Given the description of an element on the screen output the (x, y) to click on. 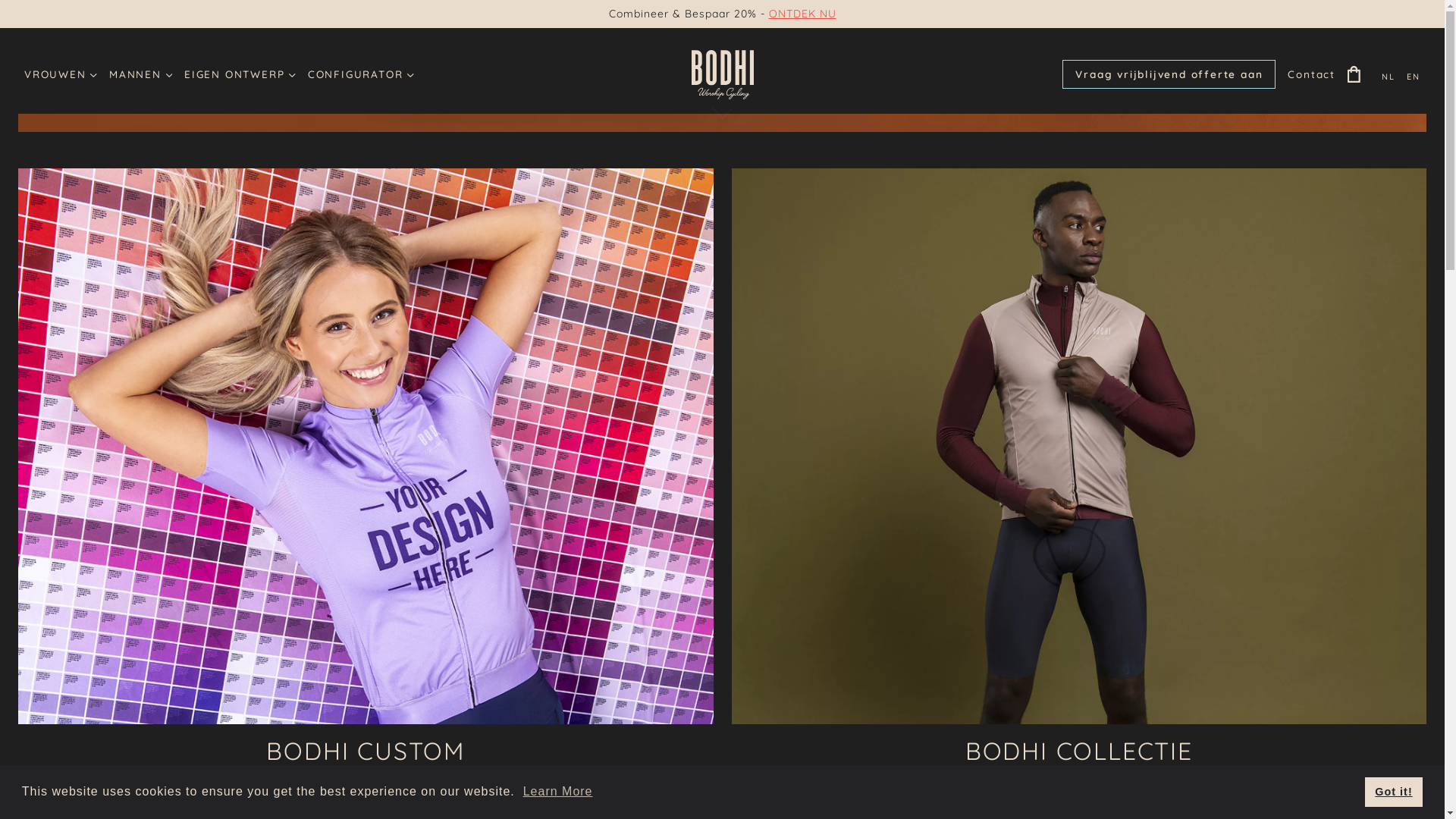
Vraag vrijblijvend offerte aan Element type: text (1168, 73)
Learn More Element type: text (558, 790)
Got it! Element type: text (1393, 791)
NL Element type: text (1388, 76)
WAAROM CUSTOM Element type: text (441, 796)
EN Element type: text (1413, 76)
MANNEN Element type: text (140, 74)
Contact Element type: text (1311, 74)
VROUWEN Element type: text (1154, 796)
PRIJZEN Element type: text (289, 796)
VROUWEN Element type: text (60, 74)
CONFIGURATOR Element type: text (360, 74)
EIGEN ONTWERP Element type: text (239, 74)
ONTDEK NU Element type: text (802, 13)
MANNEN Element type: text (1003, 796)
